Given the description of an element on the screen output the (x, y) to click on. 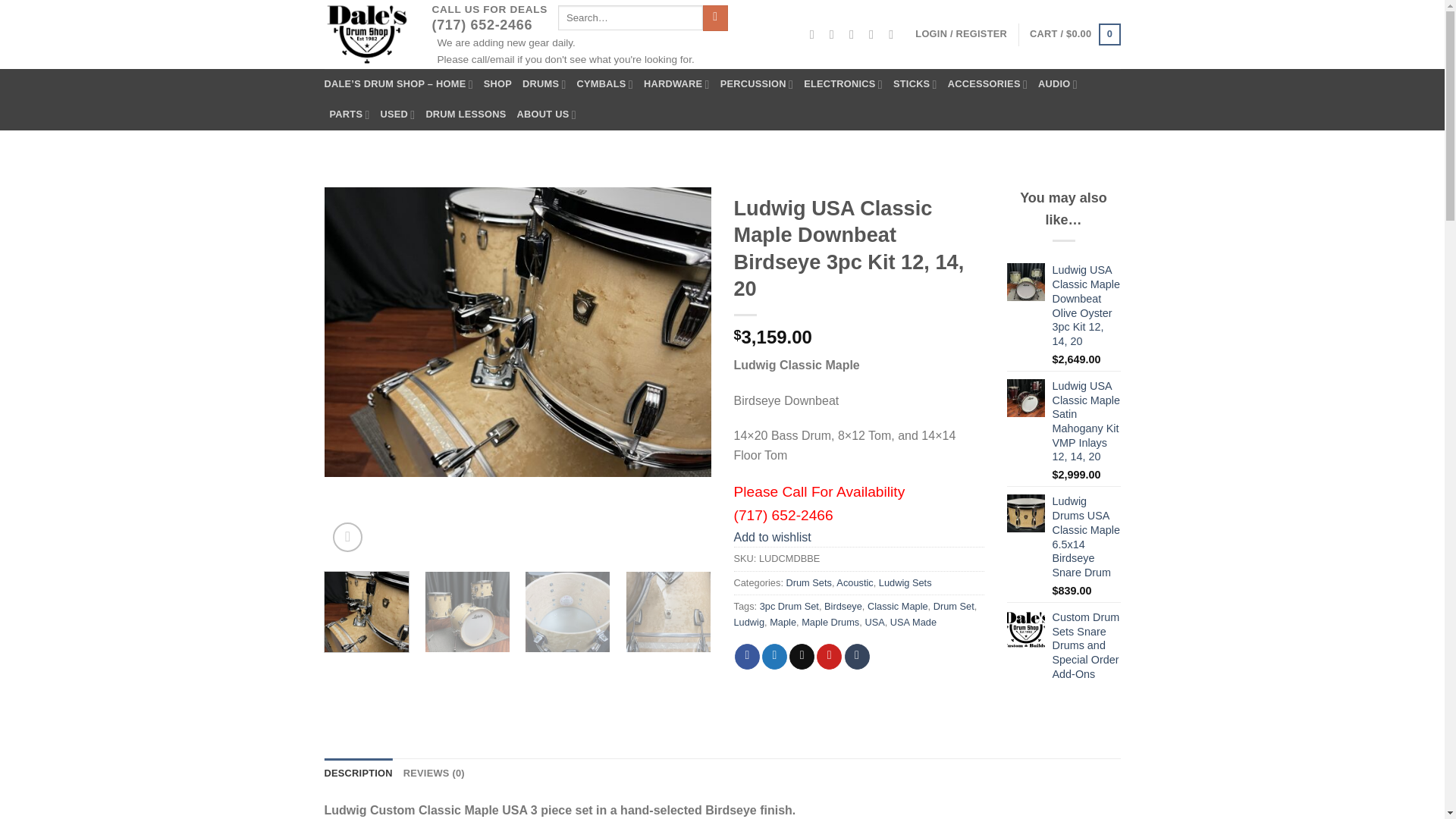
Follow on YouTube (894, 33)
Send us an email (854, 33)
Call us (874, 33)
SHOP (497, 83)
CYMBALS (604, 83)
Search (715, 17)
Follow on Facebook (815, 33)
Login (961, 33)
DRUMS (544, 83)
Cart (1074, 34)
Follow on Instagram (835, 33)
